Given the description of an element on the screen output the (x, y) to click on. 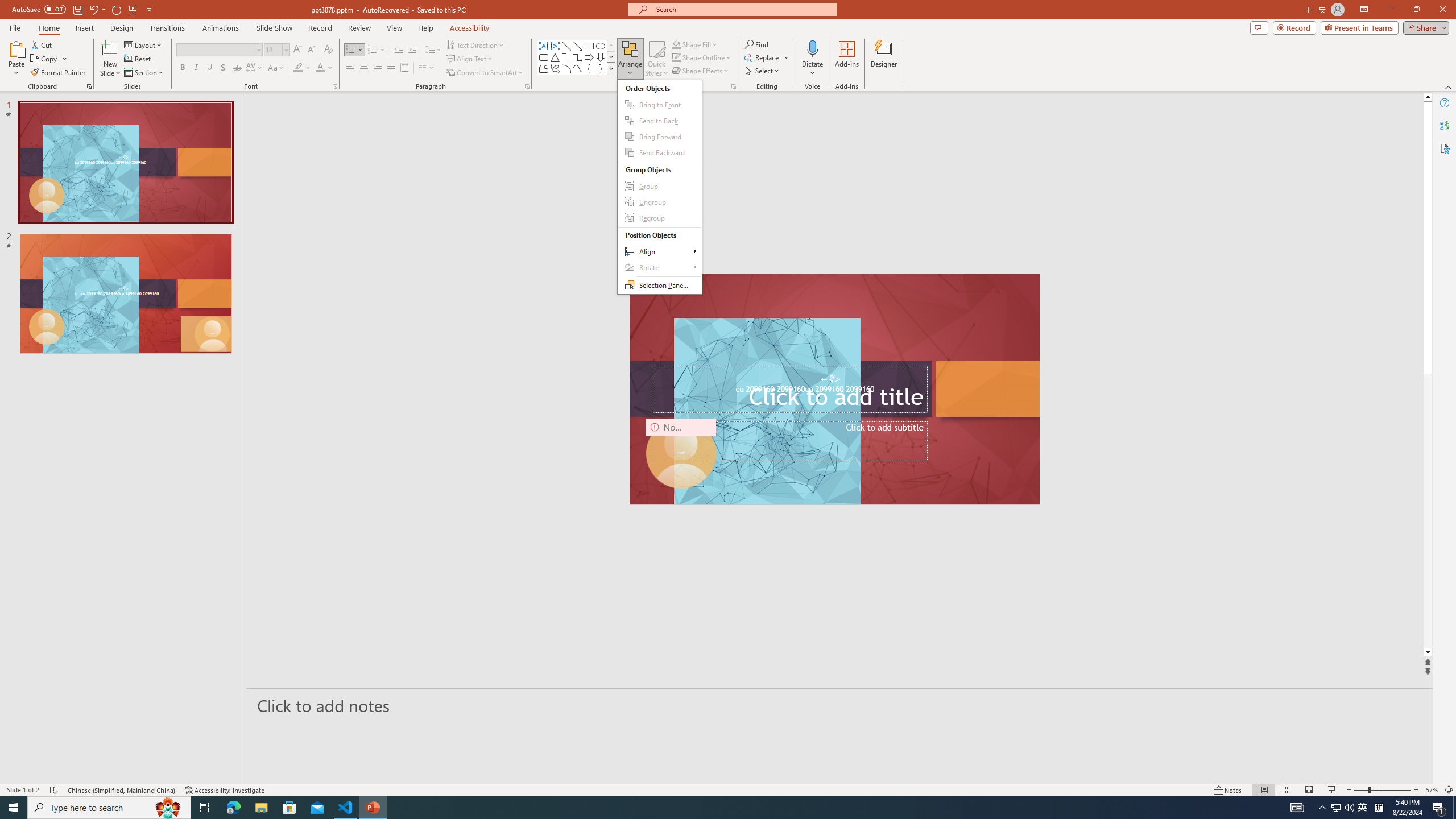
Align Left (349, 67)
Arrow: Down (600, 57)
AutomationID: 4105 (1297, 807)
Translator (1444, 125)
TextBox 7 (830, 379)
Connector: Elbow Arrow (577, 57)
Text Highlight Color (302, 67)
Arrow: Right (589, 57)
